Given the description of an element on the screen output the (x, y) to click on. 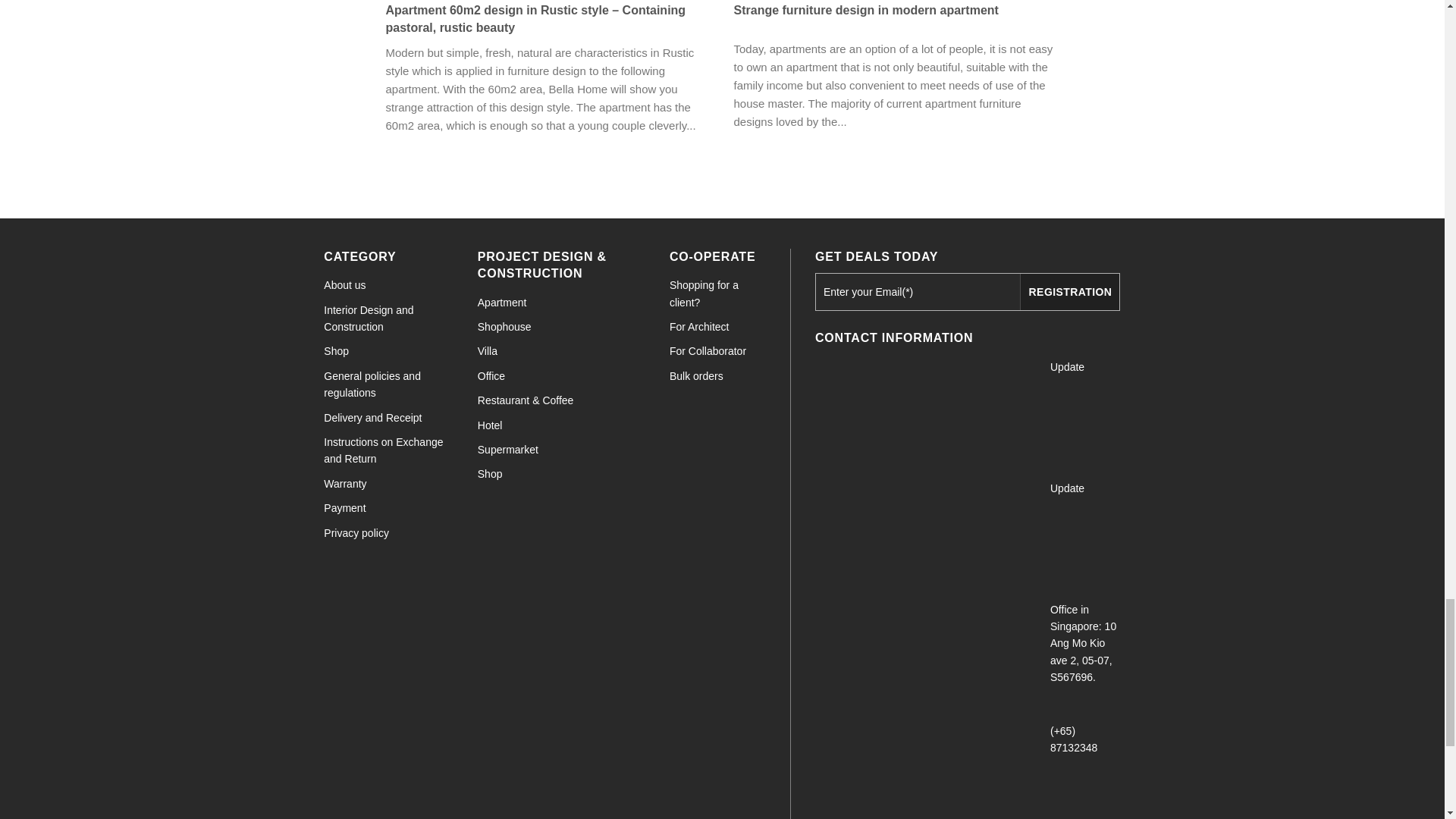
Registration (1069, 291)
